Given the description of an element on the screen output the (x, y) to click on. 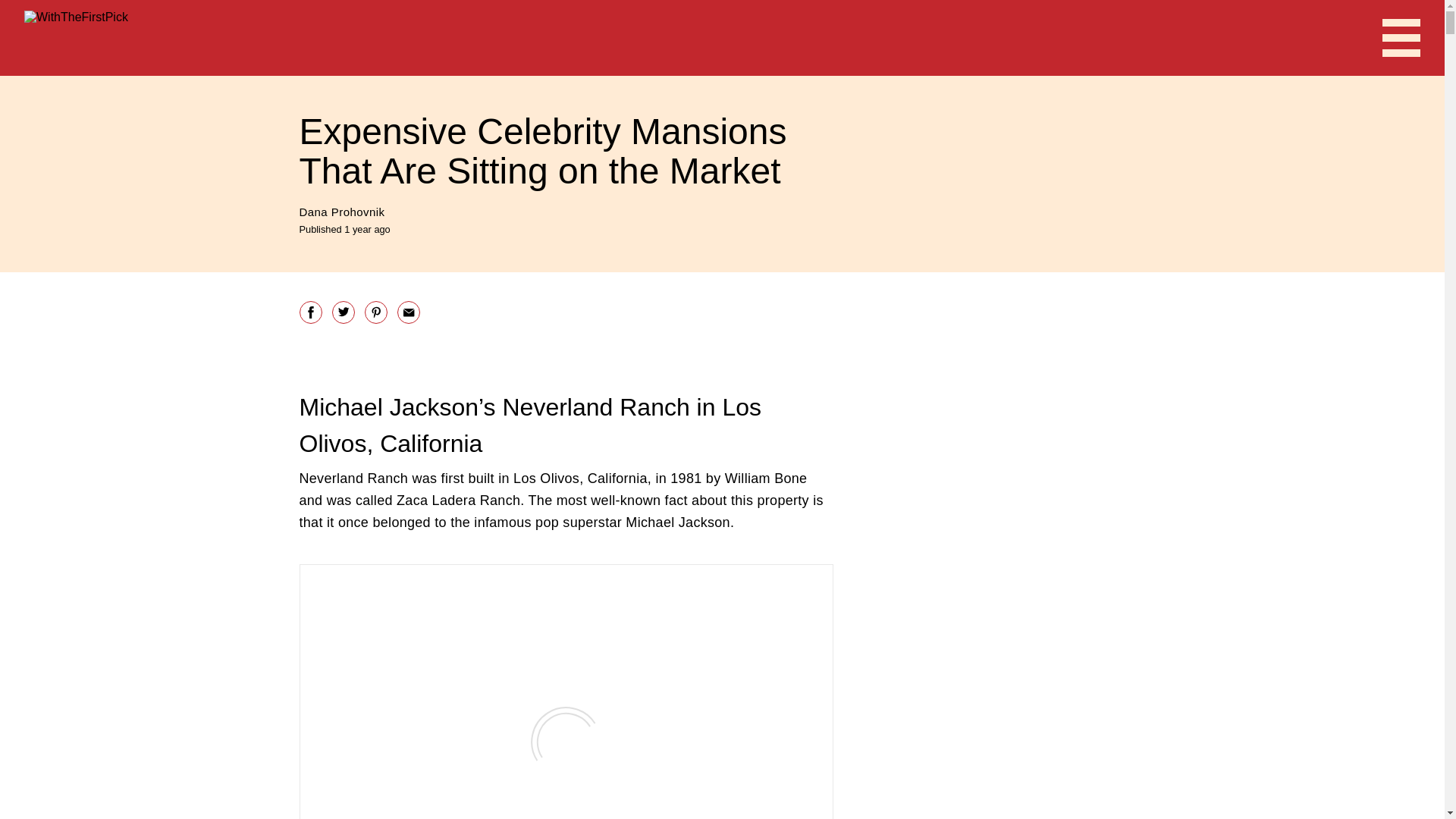
Share on Facebook (309, 311)
Share on Email (408, 311)
Share on Twitter (343, 311)
Share on Pinterest (375, 311)
2023-07-20 14:00:00 (344, 228)
